Given the description of an element on the screen output the (x, y) to click on. 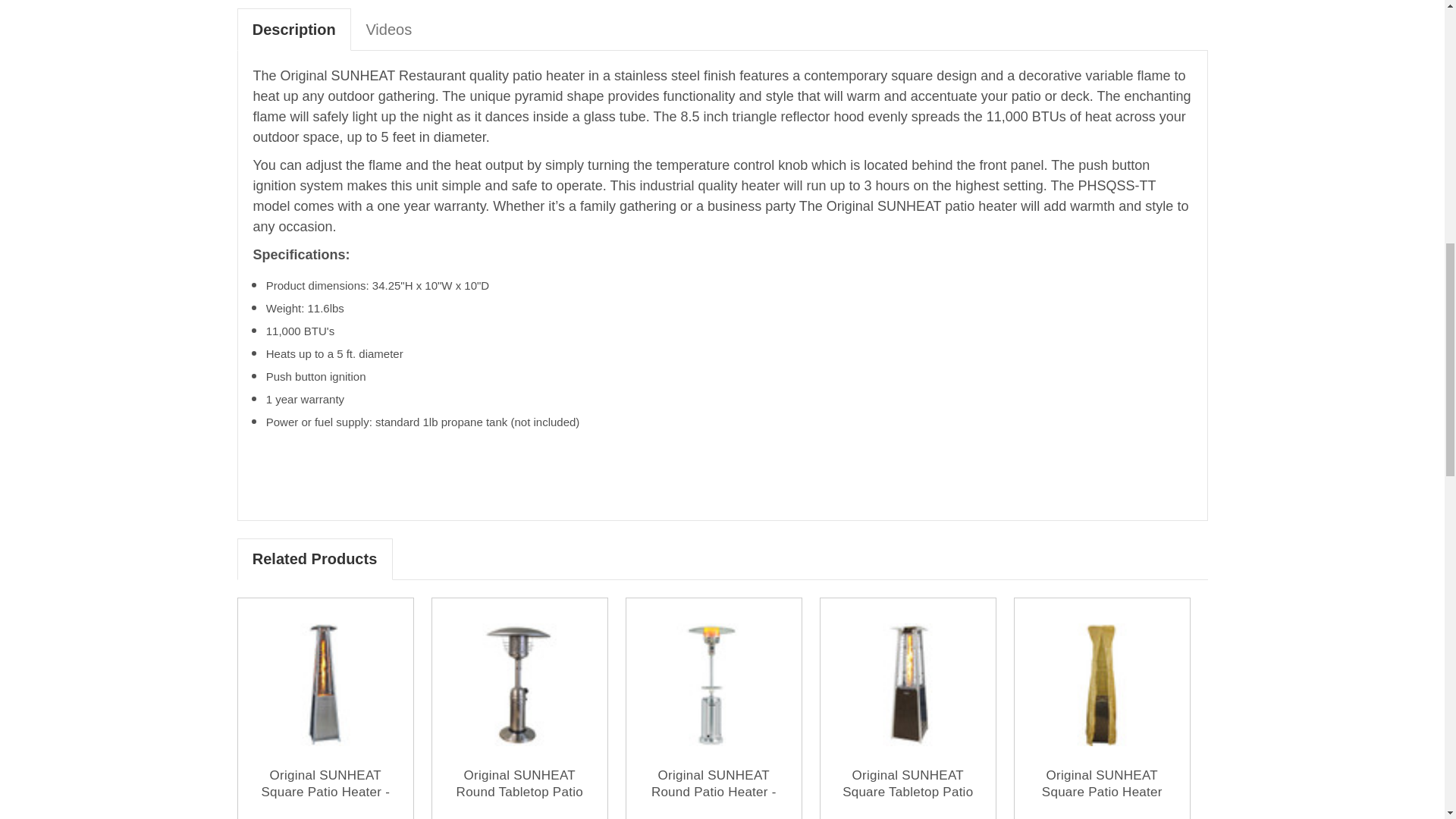
Original SUNHEAT Round Patio Heater - Stainless Steel (714, 684)
Original SUNHEAT Square Patio Heater - Stainless Steel (325, 684)
Original SUNHEAT Square Patio Heater Cover  (1101, 684)
